Given the description of an element on the screen output the (x, y) to click on. 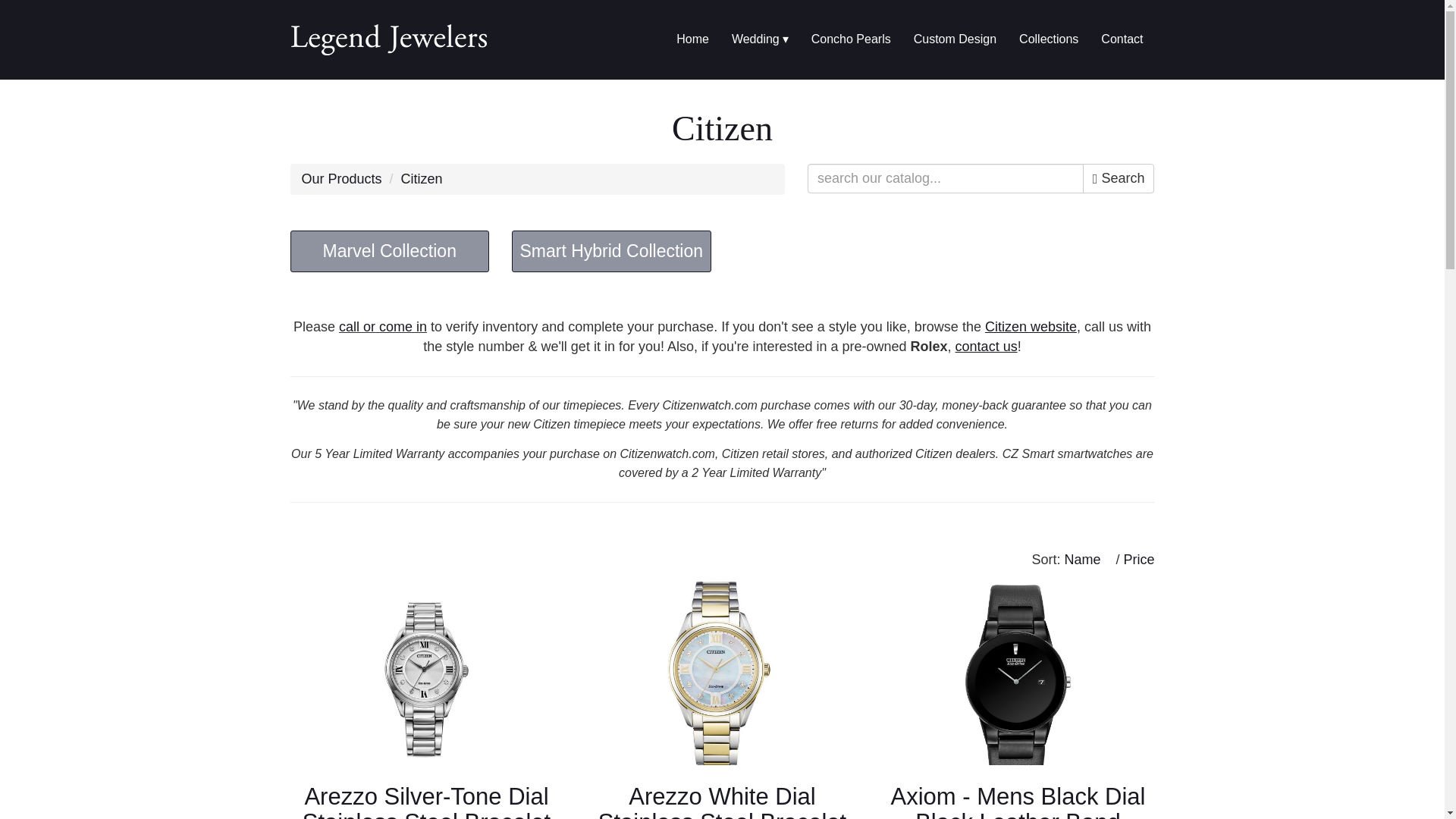
Contact (1121, 39)
Citizen website (1031, 326)
Marvel Collection (389, 250)
Arezzo Silver-Tone Dial Stainless Steel Bracelet (426, 800)
Axiom - Mens Black Dial Black Leather Band Watch (1018, 678)
Arezzo White Dial Stainless Steel Bracelet (721, 800)
Collections (1048, 39)
Citizen (421, 178)
contact us (986, 346)
Contact (1121, 39)
